Given the description of an element on the screen output the (x, y) to click on. 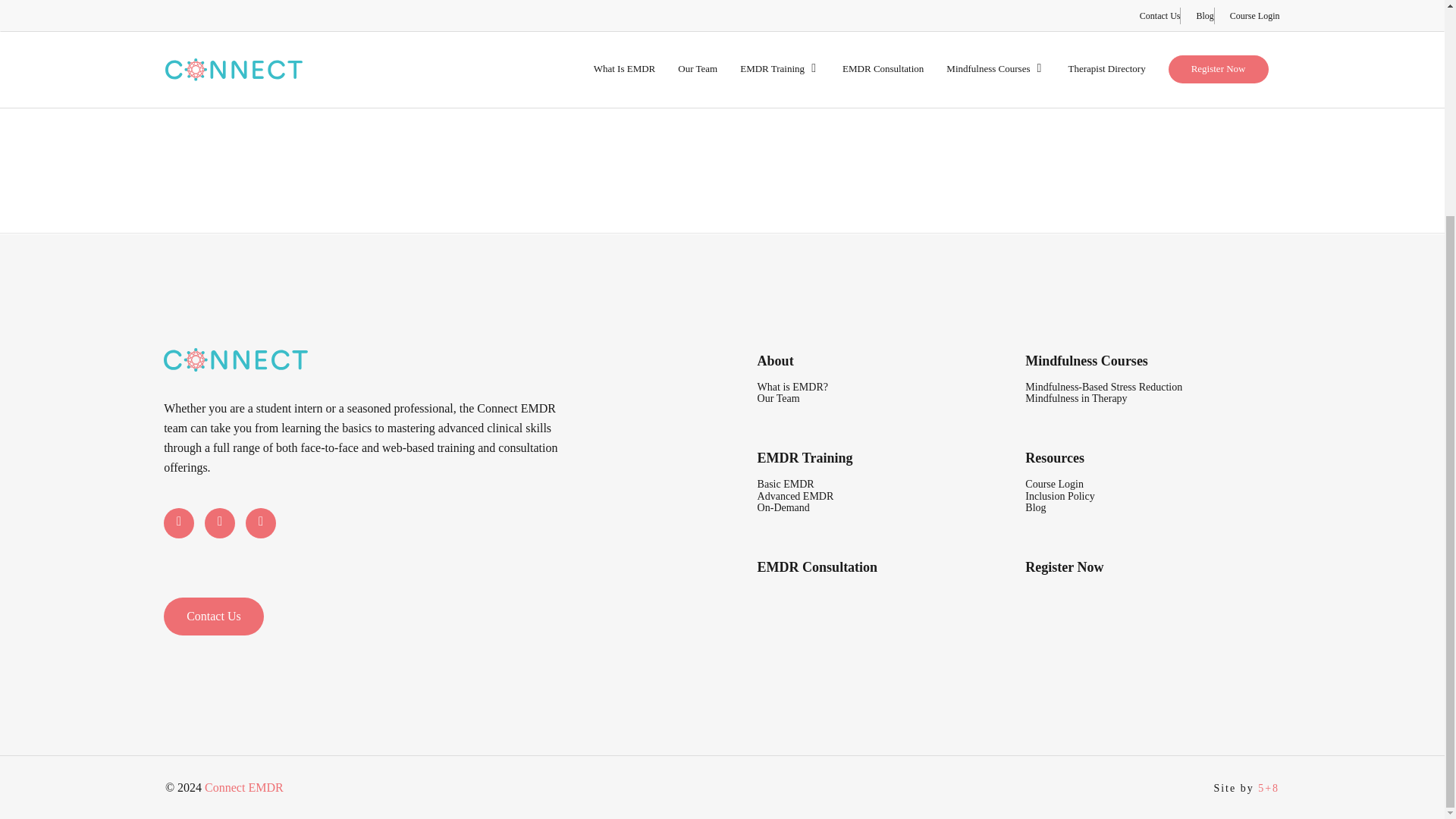
Advanced EMDR (795, 496)
Mindfulness in Therapy (1075, 398)
On-Demand (783, 507)
Contact Us (213, 616)
What is EMDR? (792, 387)
Our Team (778, 398)
Basic EMDR (785, 483)
Mindfulness-Based Stress Reduction (1103, 387)
